Given the description of an element on the screen output the (x, y) to click on. 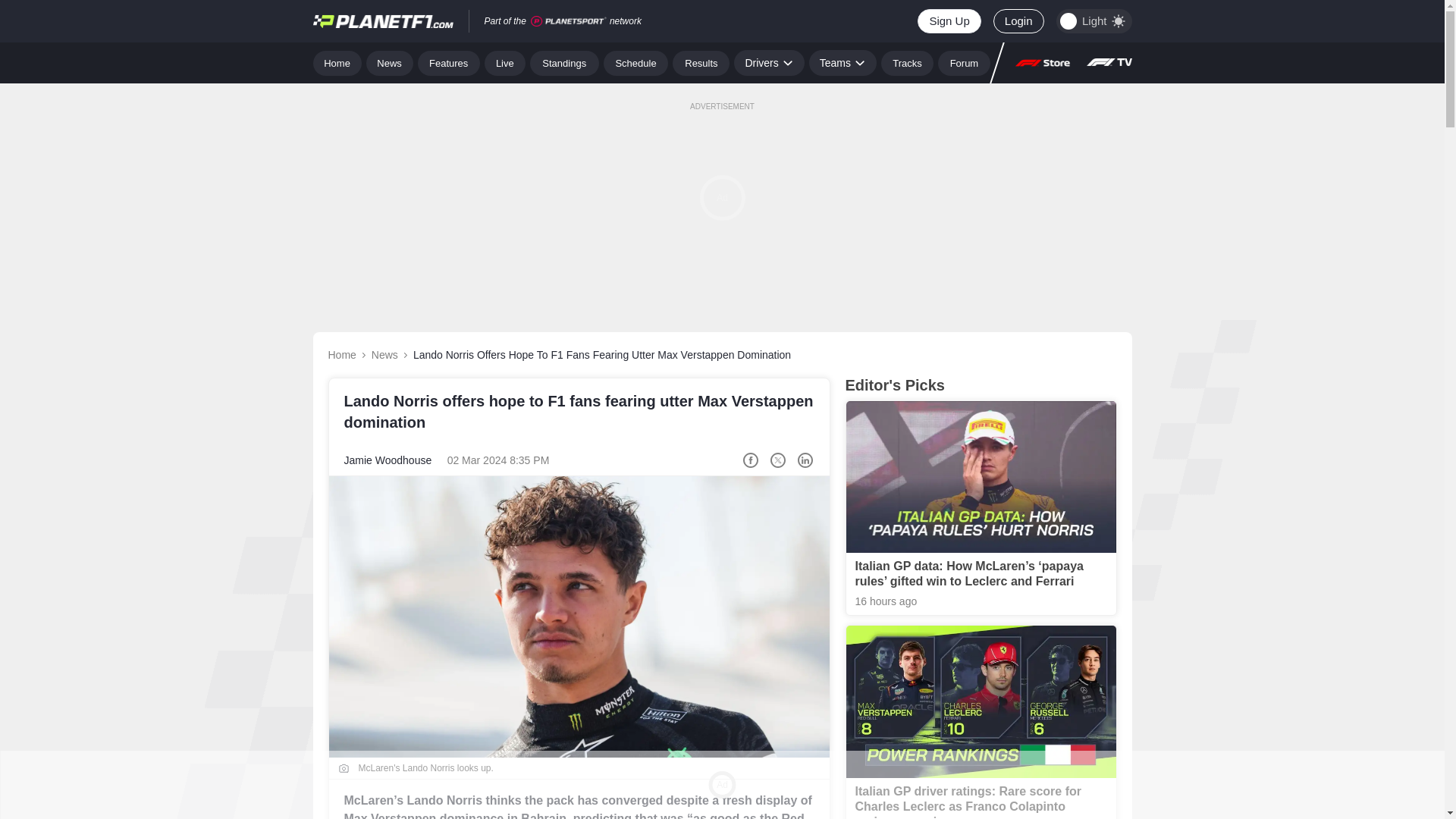
Sign Up (948, 21)
News (389, 62)
Standings (563, 62)
Login (1017, 21)
Results (700, 62)
Home (337, 62)
Features (448, 62)
Schedule (636, 62)
Teams (842, 62)
Live (504, 62)
